Given the description of an element on the screen output the (x, y) to click on. 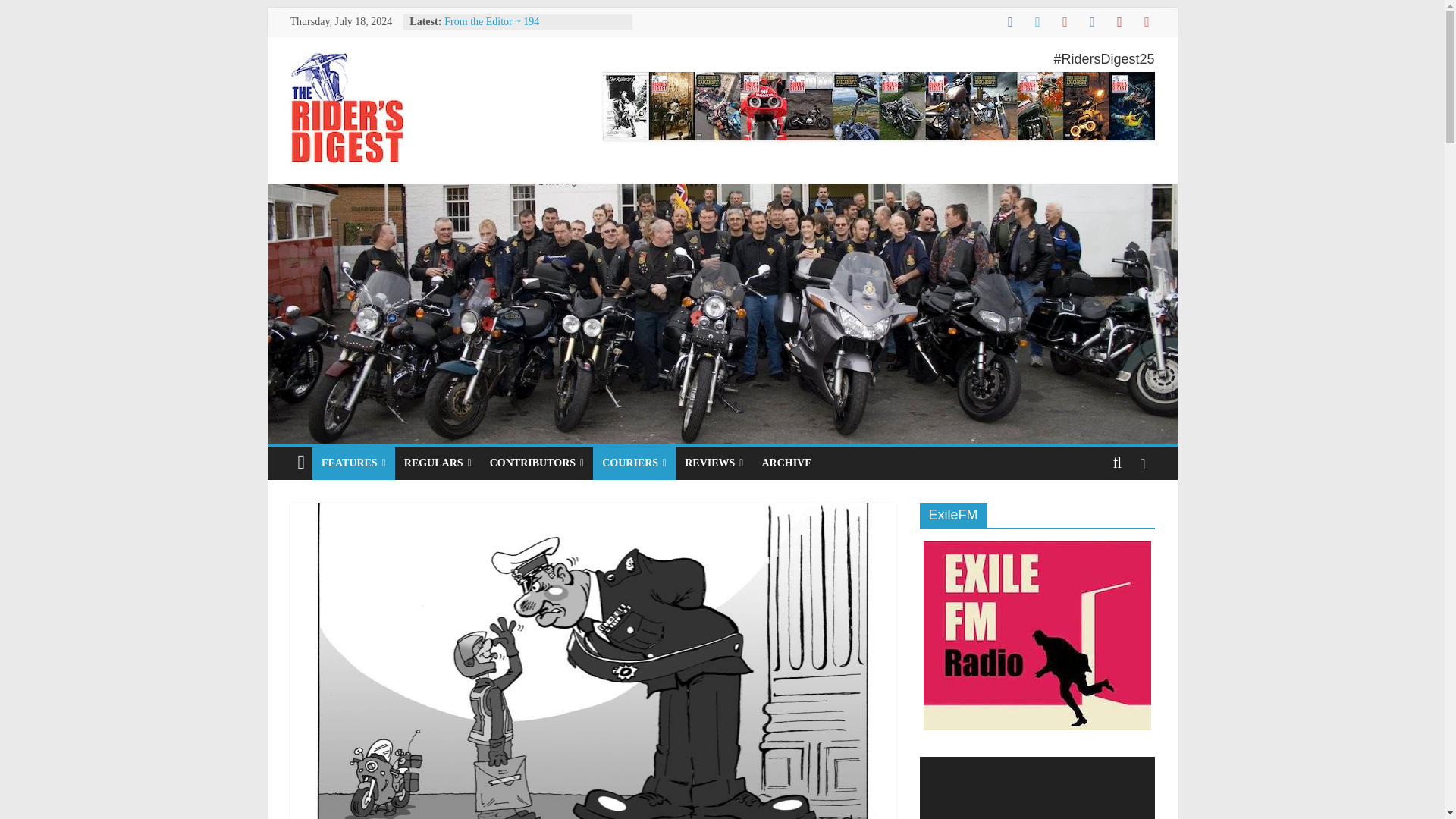
FEATURES (353, 463)
REGULARS (437, 463)
CONTRIBUTORS (536, 463)
The Rider's Digest Live (721, 192)
